Given the description of an element on the screen output the (x, y) to click on. 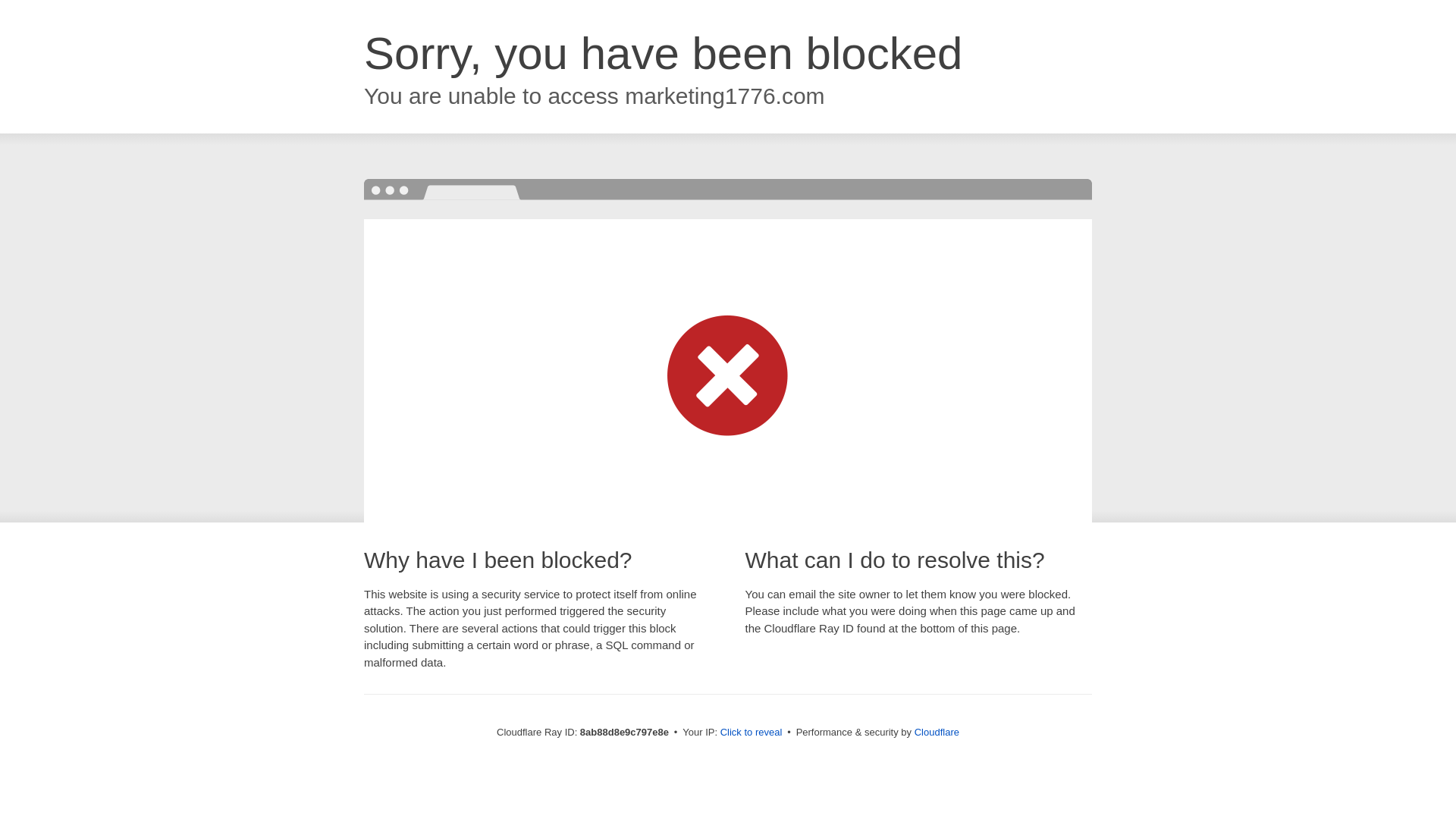
Cloudflare (936, 731)
Click to reveal (751, 732)
